Given the description of an element on the screen output the (x, y) to click on. 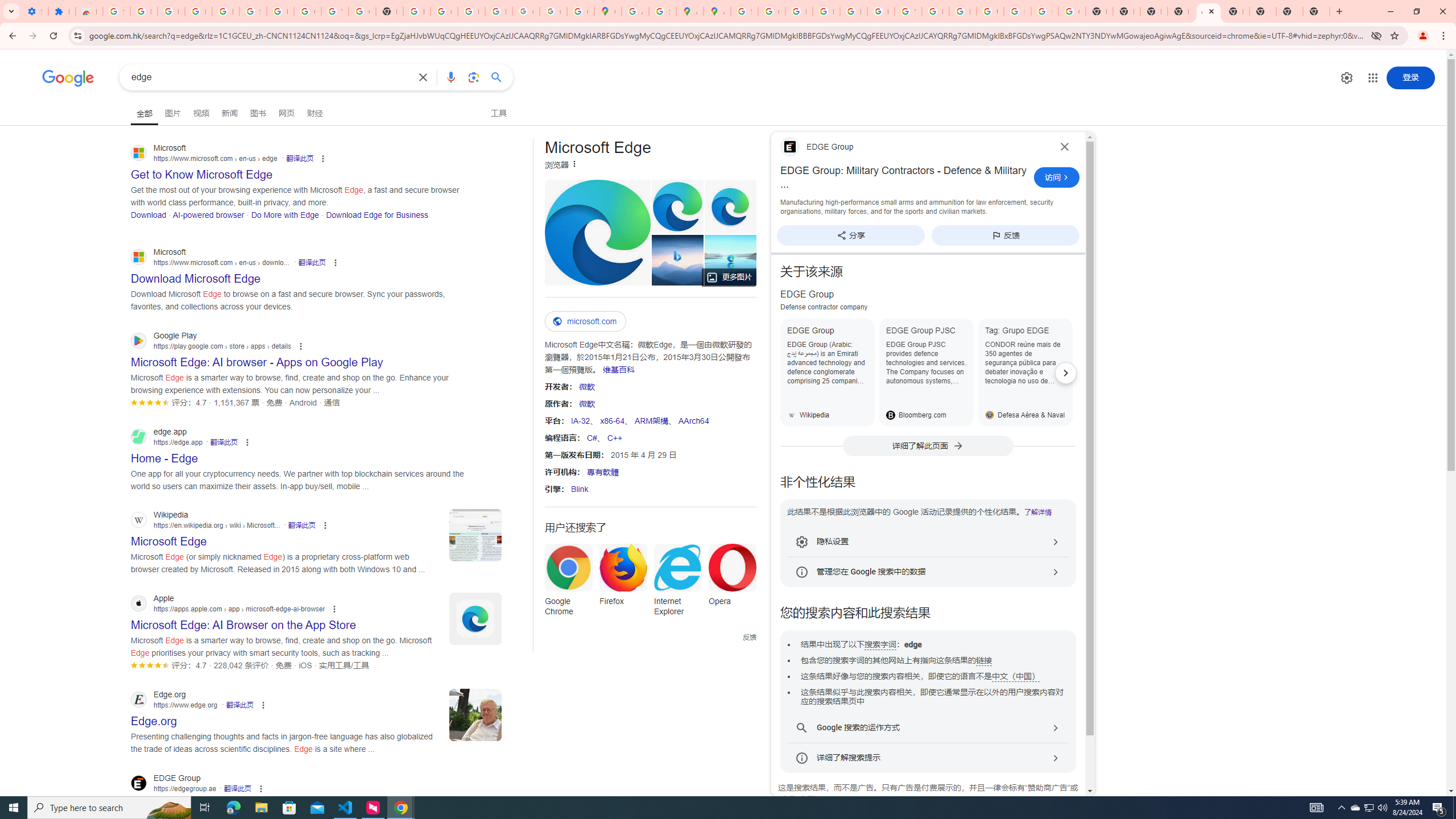
AI-powered browser (207, 214)
https://scholar.google.com/ (416, 11)
Opera (733, 578)
microsoft.com (585, 321)
New Tab (1316, 11)
